Given the description of an element on the screen output the (x, y) to click on. 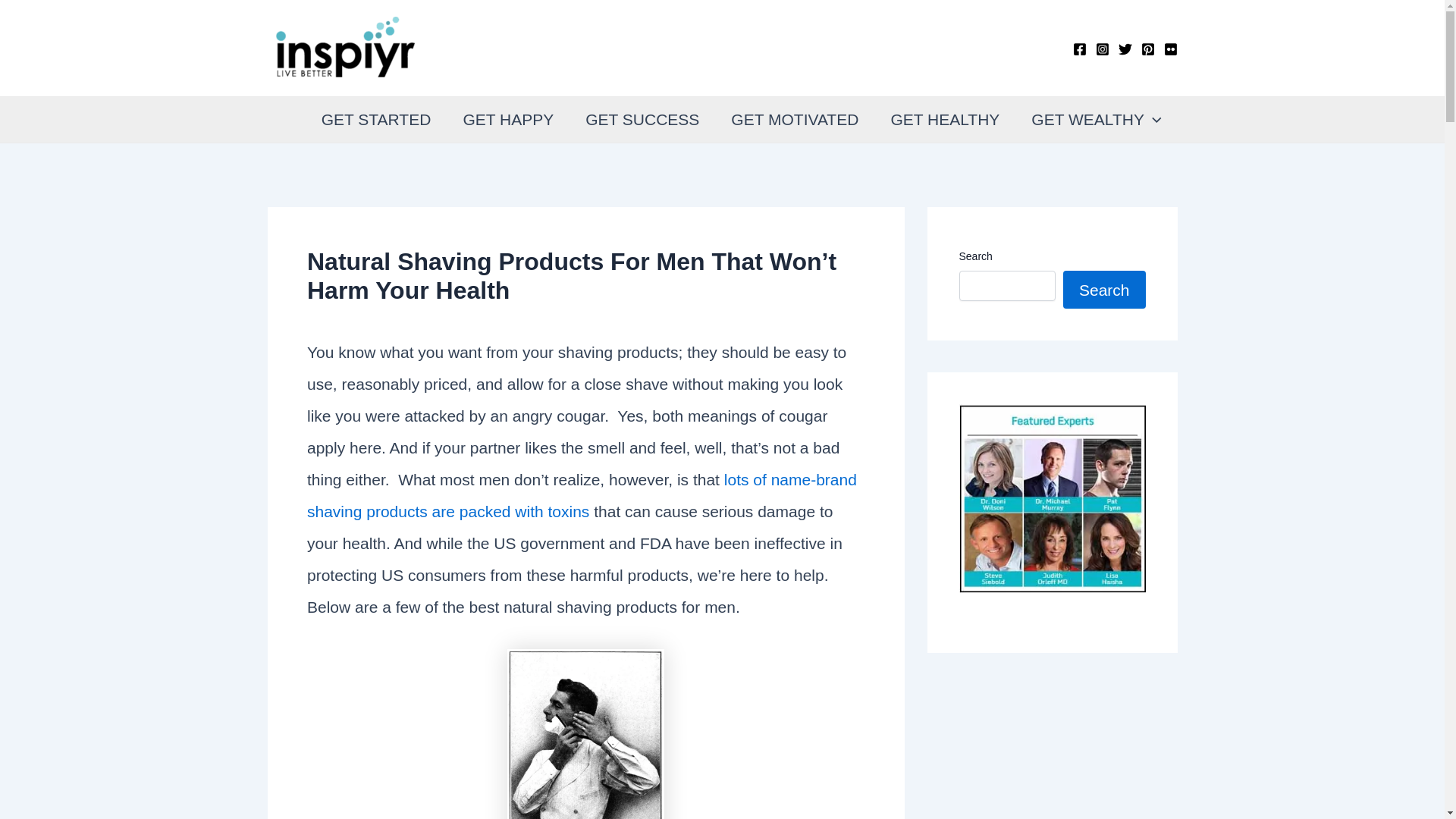
Inspiyr.com (449, 47)
GET SUCCESS (641, 119)
GET MOTIVATED (794, 119)
GET HEALTHY (944, 119)
GET WEALTHY (1095, 119)
GET STARTED (375, 119)
lots of name-brand shaving products are packed with toxins (582, 495)
GET HAPPY (507, 119)
